Given the description of an element on the screen output the (x, y) to click on. 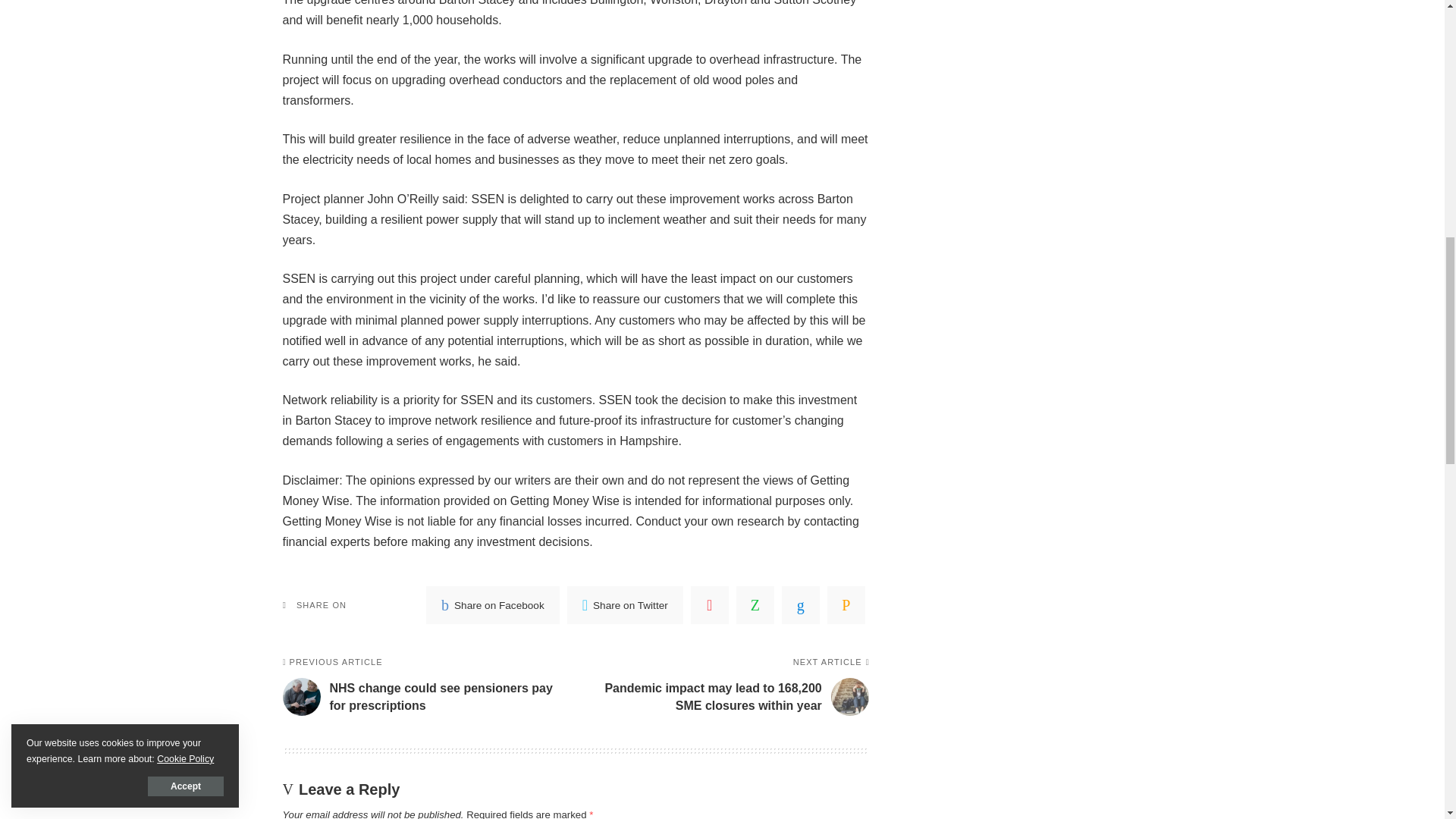
Facebook (492, 605)
Share on Facebook (492, 605)
Twitter (624, 605)
